Given the description of an element on the screen output the (x, y) to click on. 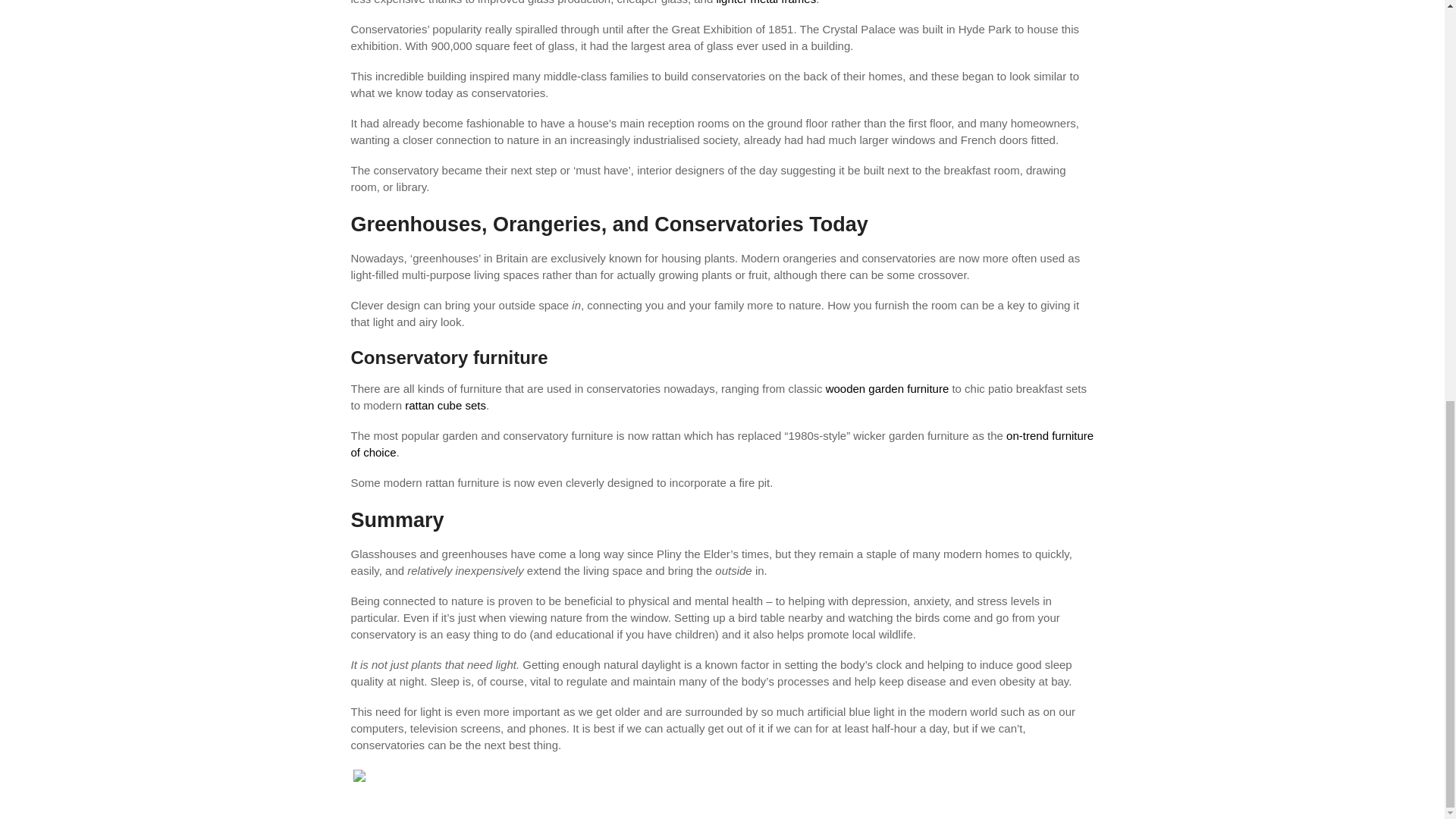
wooden garden furniture (887, 388)
on-trend furniture of choice (721, 443)
rattan cube sets (445, 404)
lighter metal frames (765, 2)
